Given the description of an element on the screen output the (x, y) to click on. 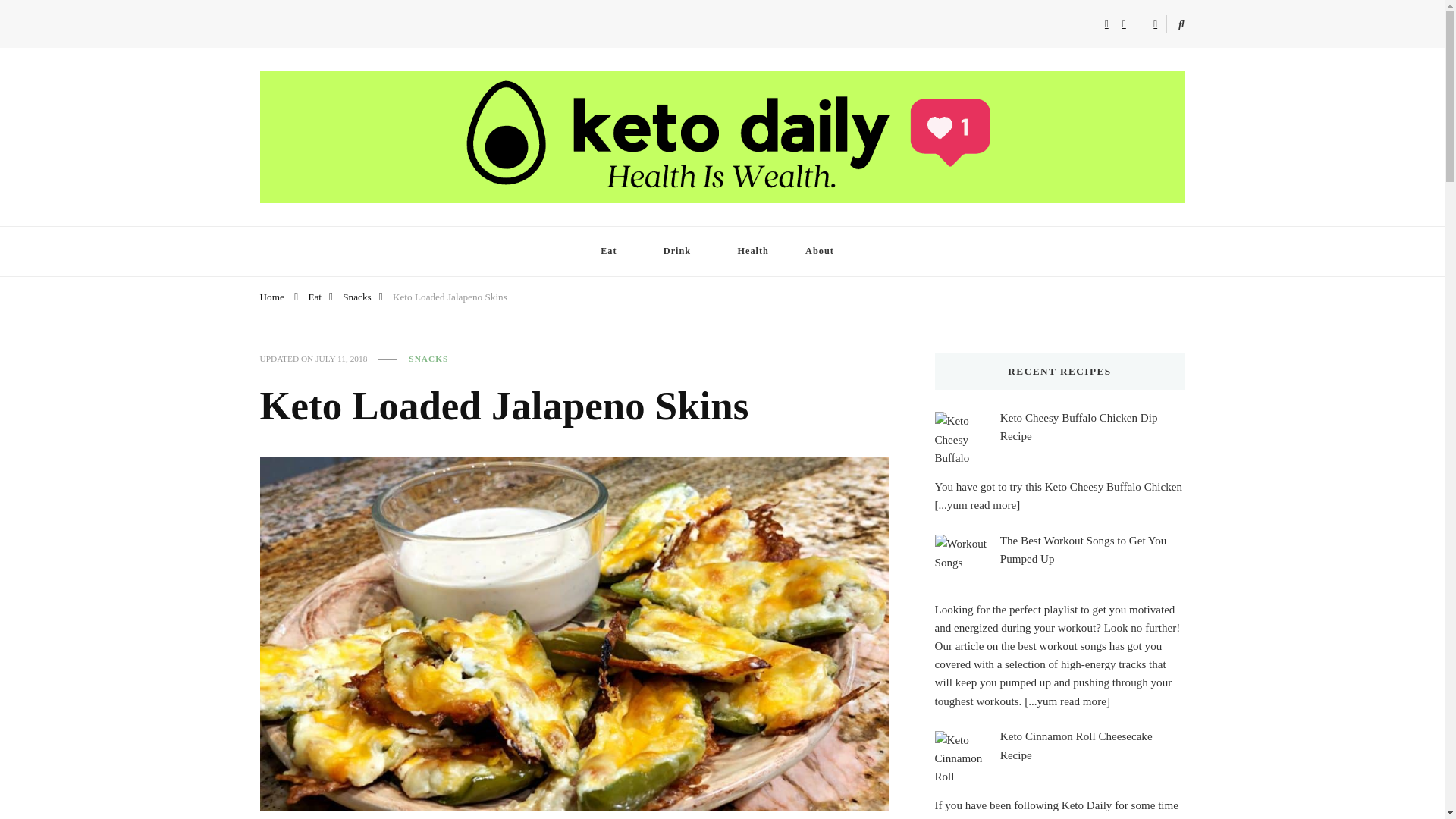
JULY 11, 2018 (340, 358)
Snacks (356, 296)
Search (1153, 26)
Eat (314, 296)
Keto Loaded Jalapeno Skins (449, 296)
Drink (681, 250)
About (824, 250)
Home (271, 296)
Health (752, 250)
Keto Daily (308, 216)
SNACKS (428, 358)
Eat (613, 250)
